Given the description of an element on the screen output the (x, y) to click on. 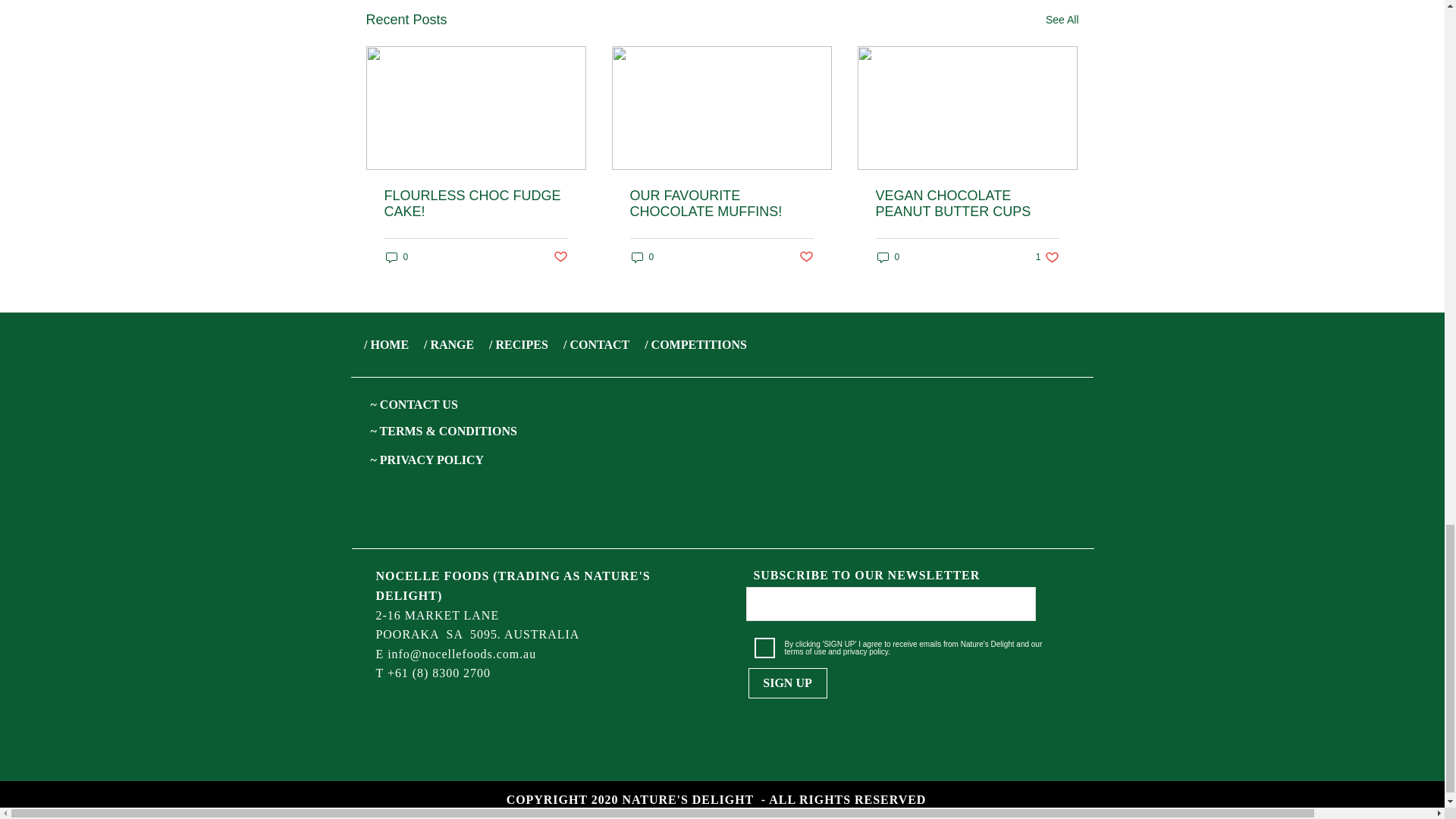
OUR FAVOURITE CHOCOLATE MUFFINS! (720, 204)
See All (1061, 20)
VEGAN CHOCOLATE PEANUT BUTTER CUPS (966, 204)
FLOURLESS CHOC FUDGE CAKE! (475, 204)
Post not marked as liked (560, 257)
0 (641, 257)
SIGN UP (787, 683)
0 (888, 257)
Post not marked as liked (806, 257)
0 (396, 257)
